Given the description of an element on the screen output the (x, y) to click on. 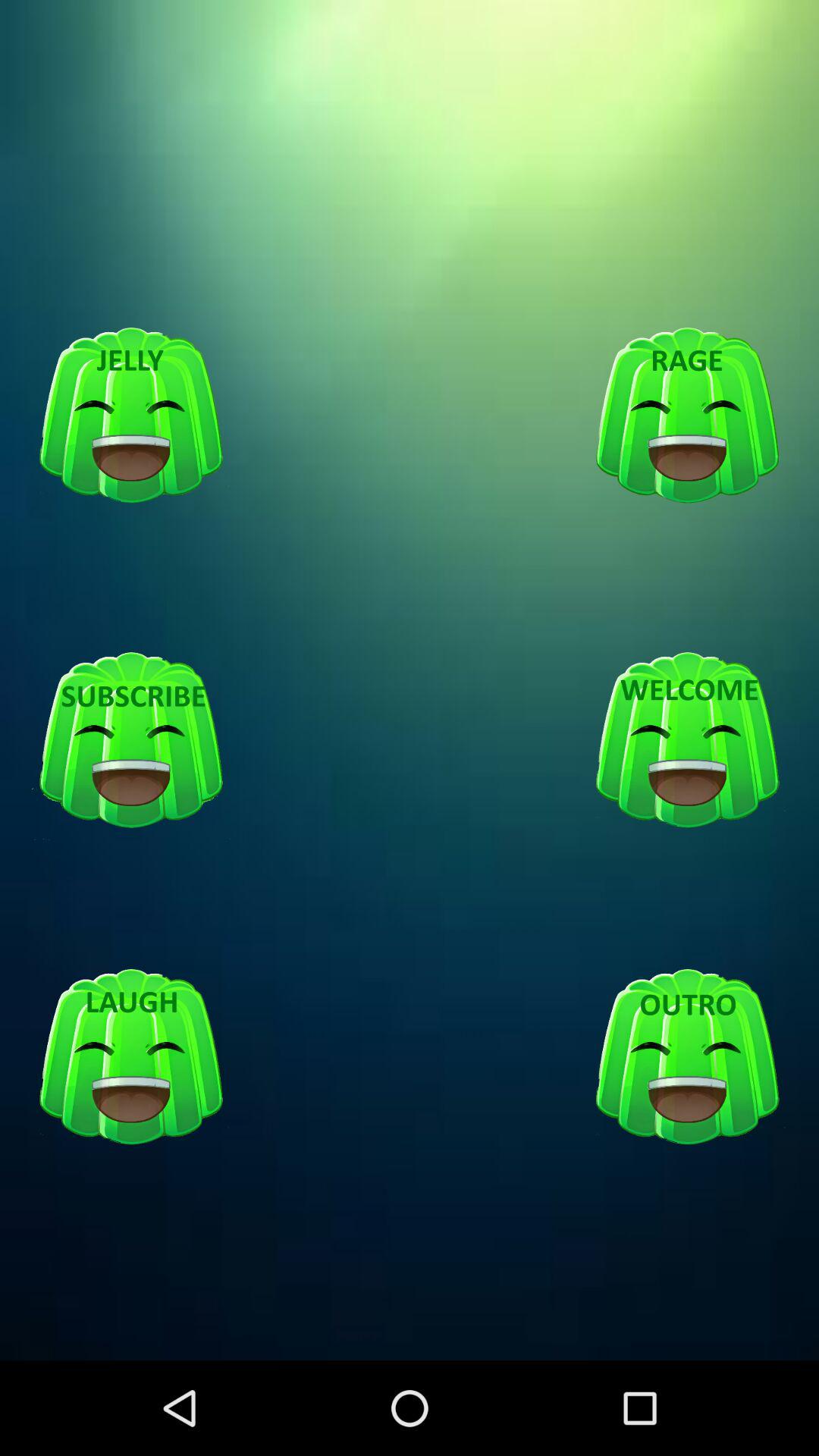
suscribe option (130, 740)
